Given the description of an element on the screen output the (x, y) to click on. 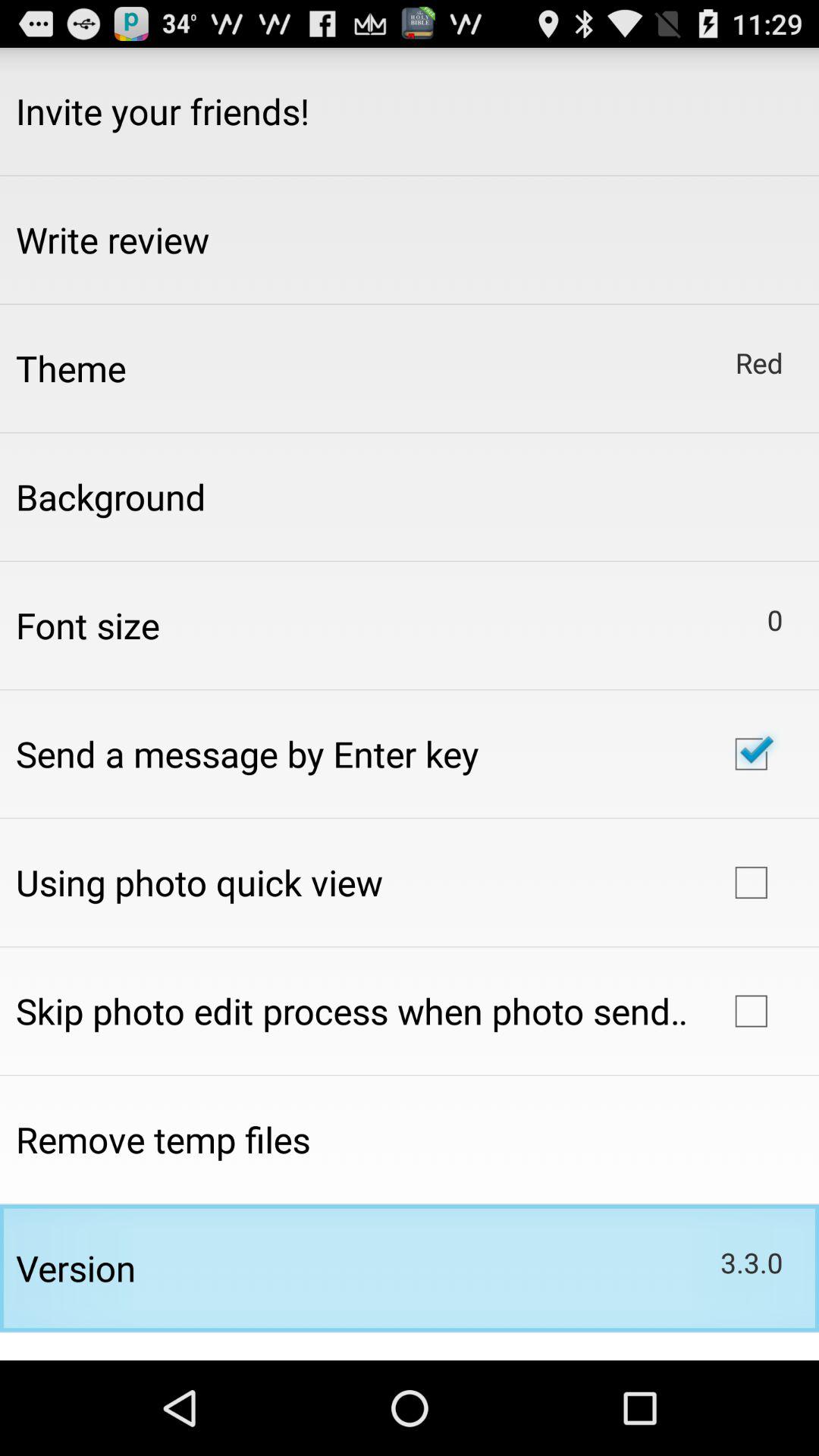
turn off app below the font size item (246, 753)
